Given the description of an element on the screen output the (x, y) to click on. 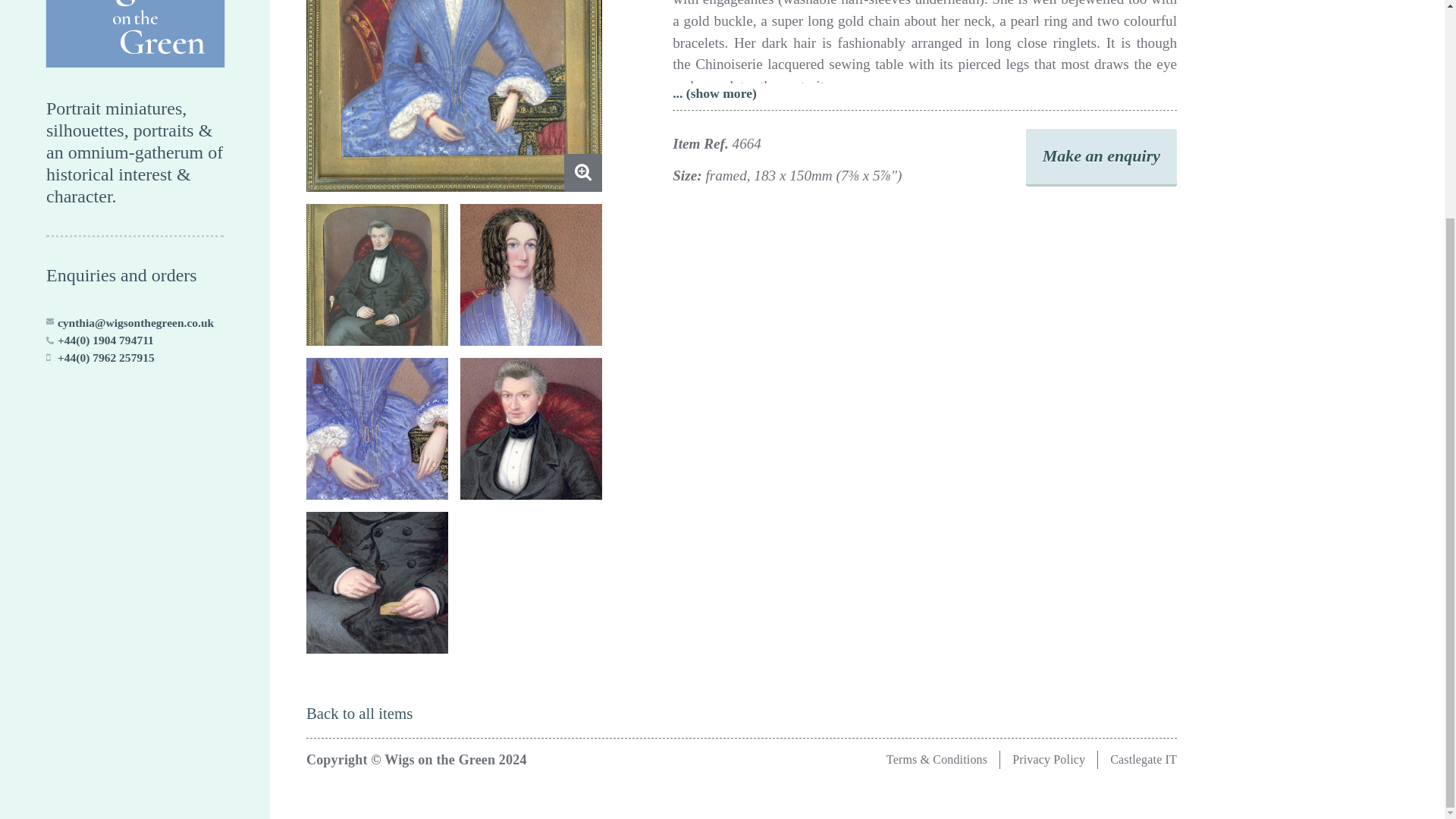
Back to all items (358, 712)
Privacy Policy (1047, 758)
Castlegate IT (1142, 758)
Make an enquiry (1101, 156)
The Sewing Table (453, 95)
